Given the description of an element on the screen output the (x, y) to click on. 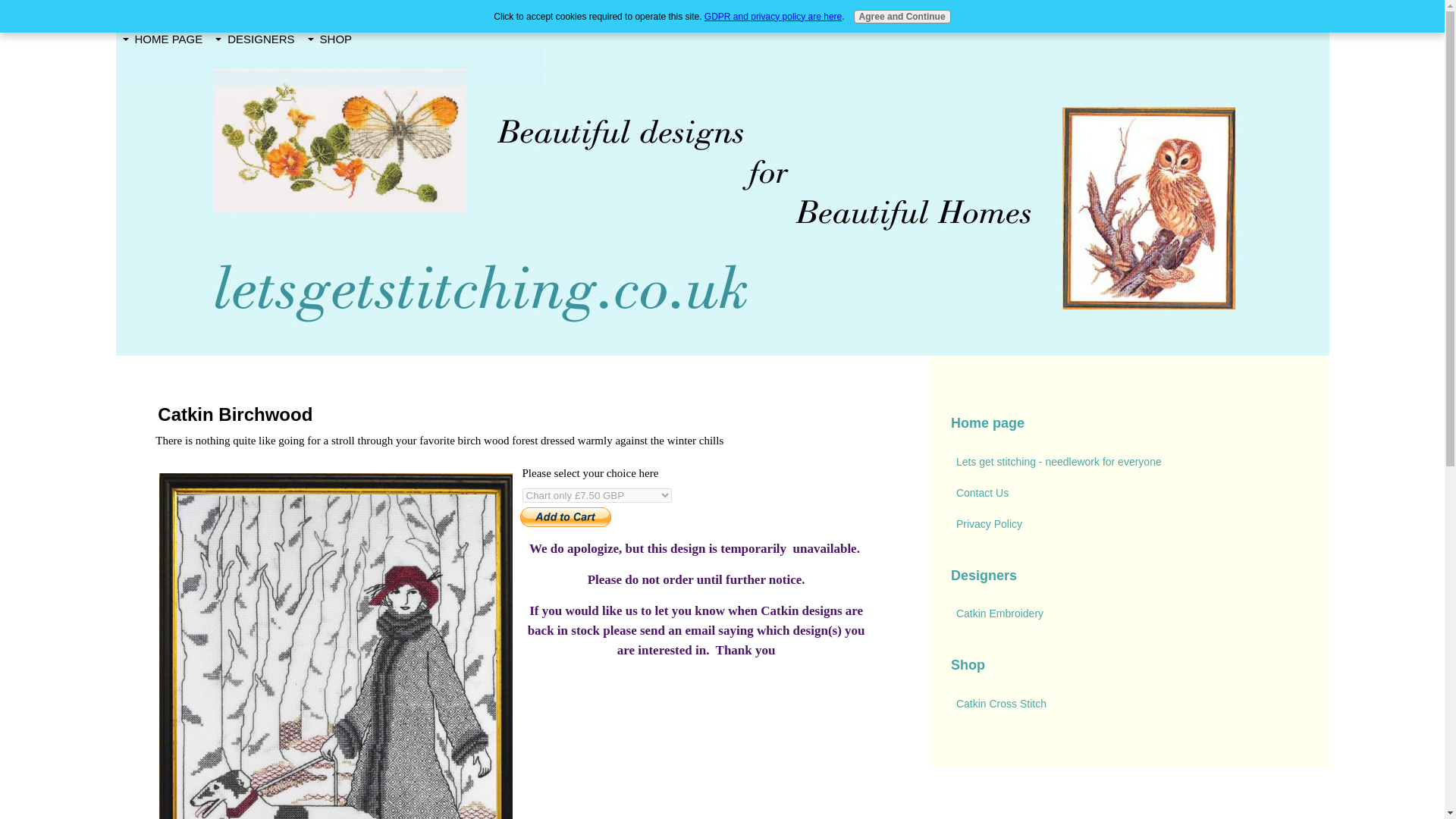
GDPR and privacy policy are here (772, 16)
Contact Us (1128, 492)
Agree and Continue (901, 16)
Privacy Policy (1128, 523)
Catkin Embroidery (1128, 613)
Lets get stitching - needlework for everyone (1128, 461)
Catkin Cross Stitch (1128, 703)
